Given the description of an element on the screen output the (x, y) to click on. 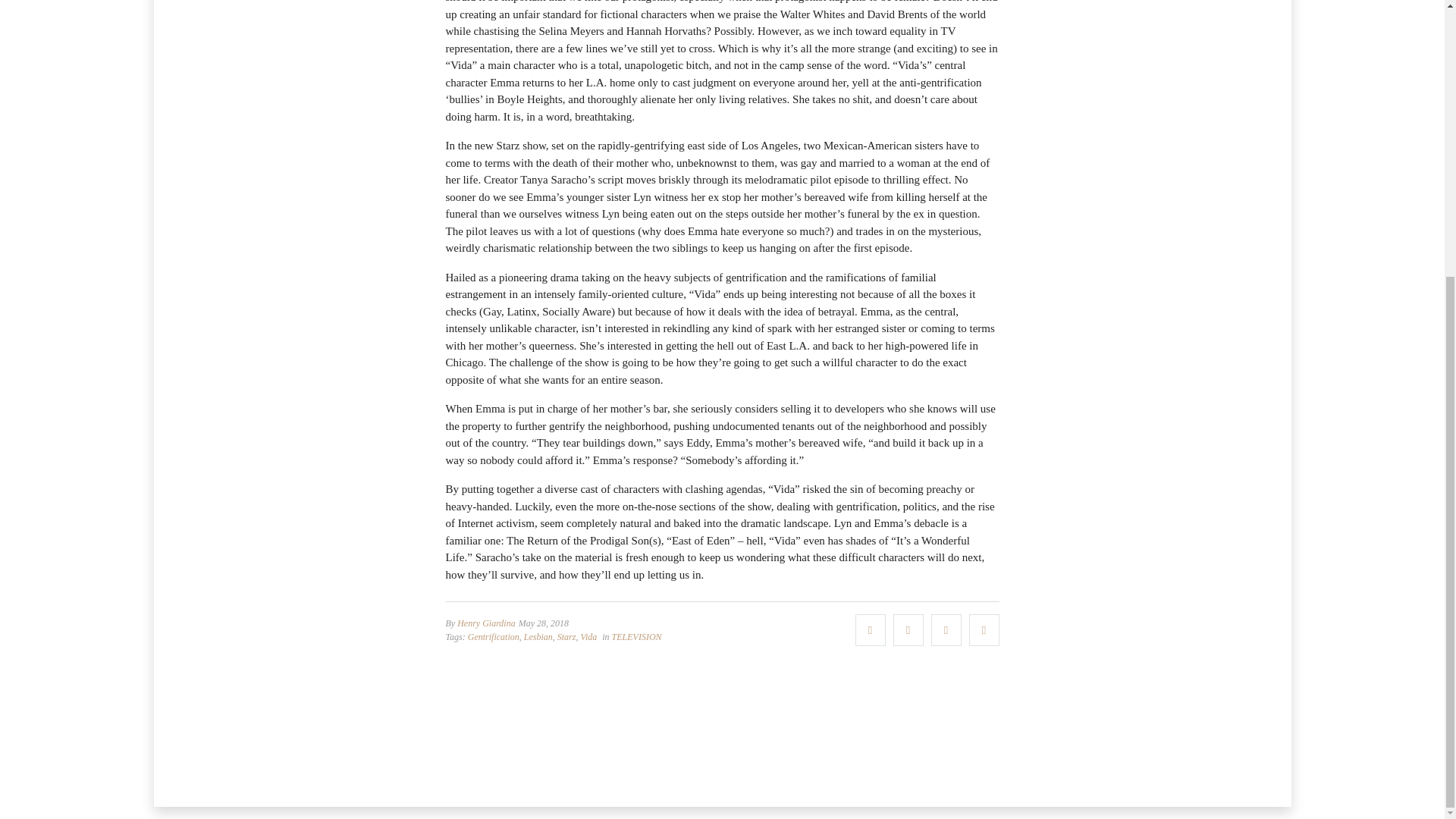
Vida (587, 636)
Henry Giardina (486, 623)
Starz (566, 636)
Posts by Henry Giardina (486, 623)
Gentrification (493, 636)
Lesbian (538, 636)
